Given the description of an element on the screen output the (x, y) to click on. 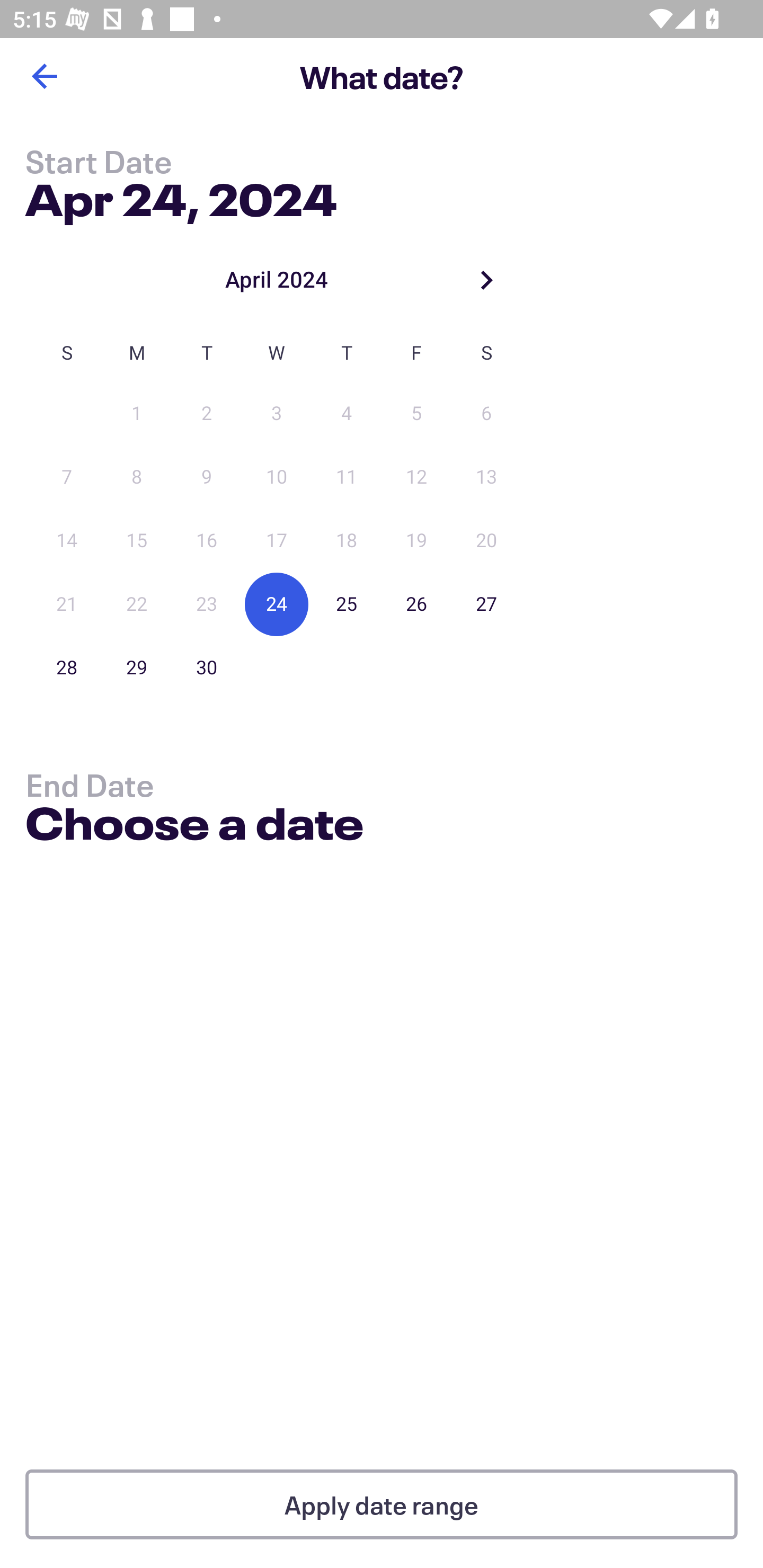
Back button (44, 75)
Apr 24, 2024 (181, 195)
Next month (486, 279)
1 01 April 2024 (136, 413)
2 02 April 2024 (206, 413)
3 03 April 2024 (276, 413)
4 04 April 2024 (346, 413)
5 05 April 2024 (416, 413)
6 06 April 2024 (486, 413)
7 07 April 2024 (66, 477)
8 08 April 2024 (136, 477)
9 09 April 2024 (206, 477)
10 10 April 2024 (276, 477)
11 11 April 2024 (346, 477)
12 12 April 2024 (416, 477)
13 13 April 2024 (486, 477)
14 14 April 2024 (66, 540)
15 15 April 2024 (136, 540)
16 16 April 2024 (206, 540)
17 17 April 2024 (276, 540)
18 18 April 2024 (346, 540)
19 19 April 2024 (416, 540)
20 20 April 2024 (486, 540)
21 21 April 2024 (66, 604)
22 22 April 2024 (136, 604)
23 23 April 2024 (206, 604)
24 24 April 2024 (276, 604)
25 25 April 2024 (346, 604)
26 26 April 2024 (416, 604)
27 27 April 2024 (486, 604)
28 28 April 2024 (66, 667)
29 29 April 2024 (136, 667)
30 30 April 2024 (206, 667)
Choose a date (194, 826)
Apply date range (381, 1504)
